Given the description of an element on the screen output the (x, y) to click on. 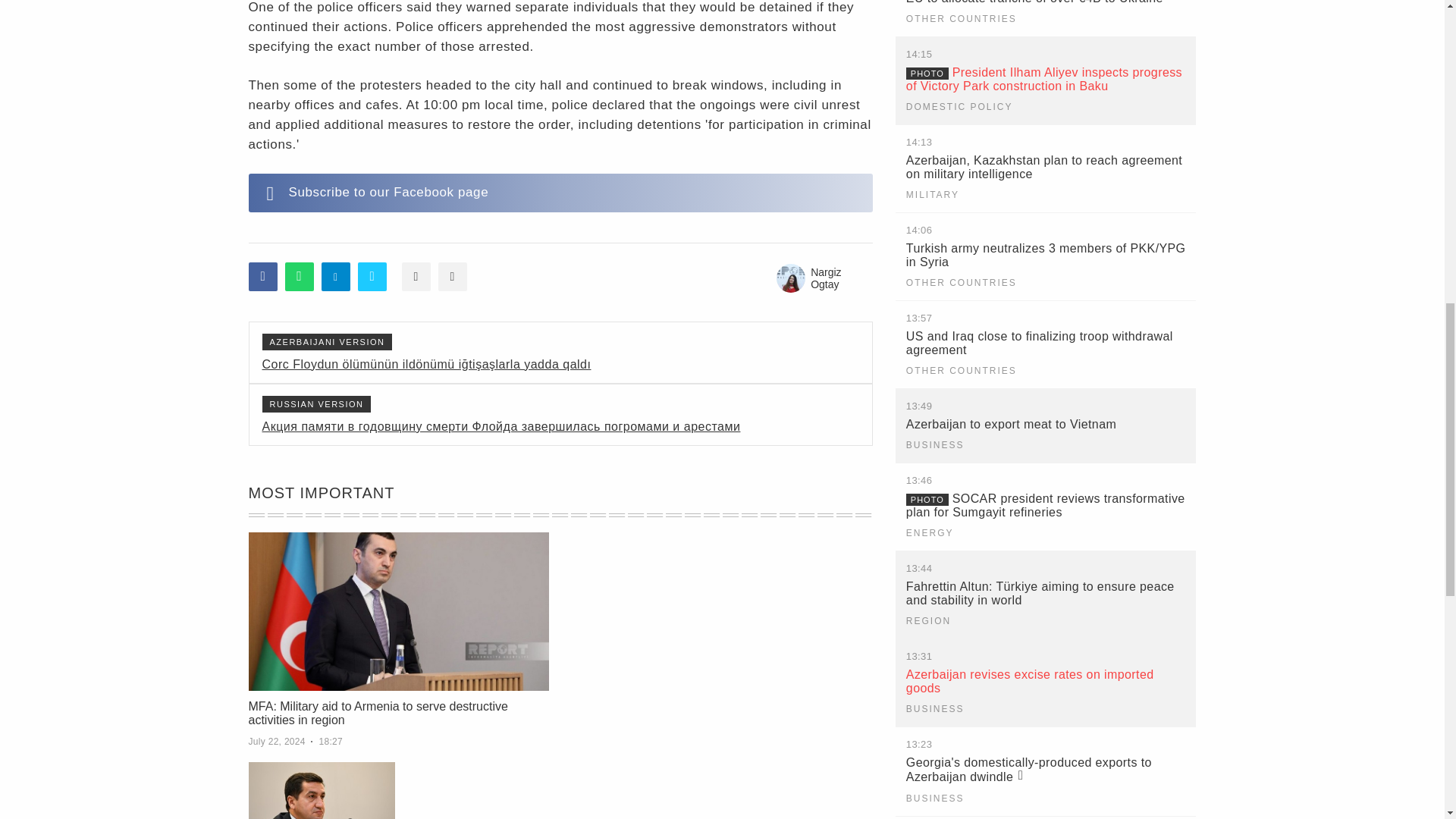
Azerbaijan invites Armenia to COP29 climate talks (321, 790)
